Given the description of an element on the screen output the (x, y) to click on. 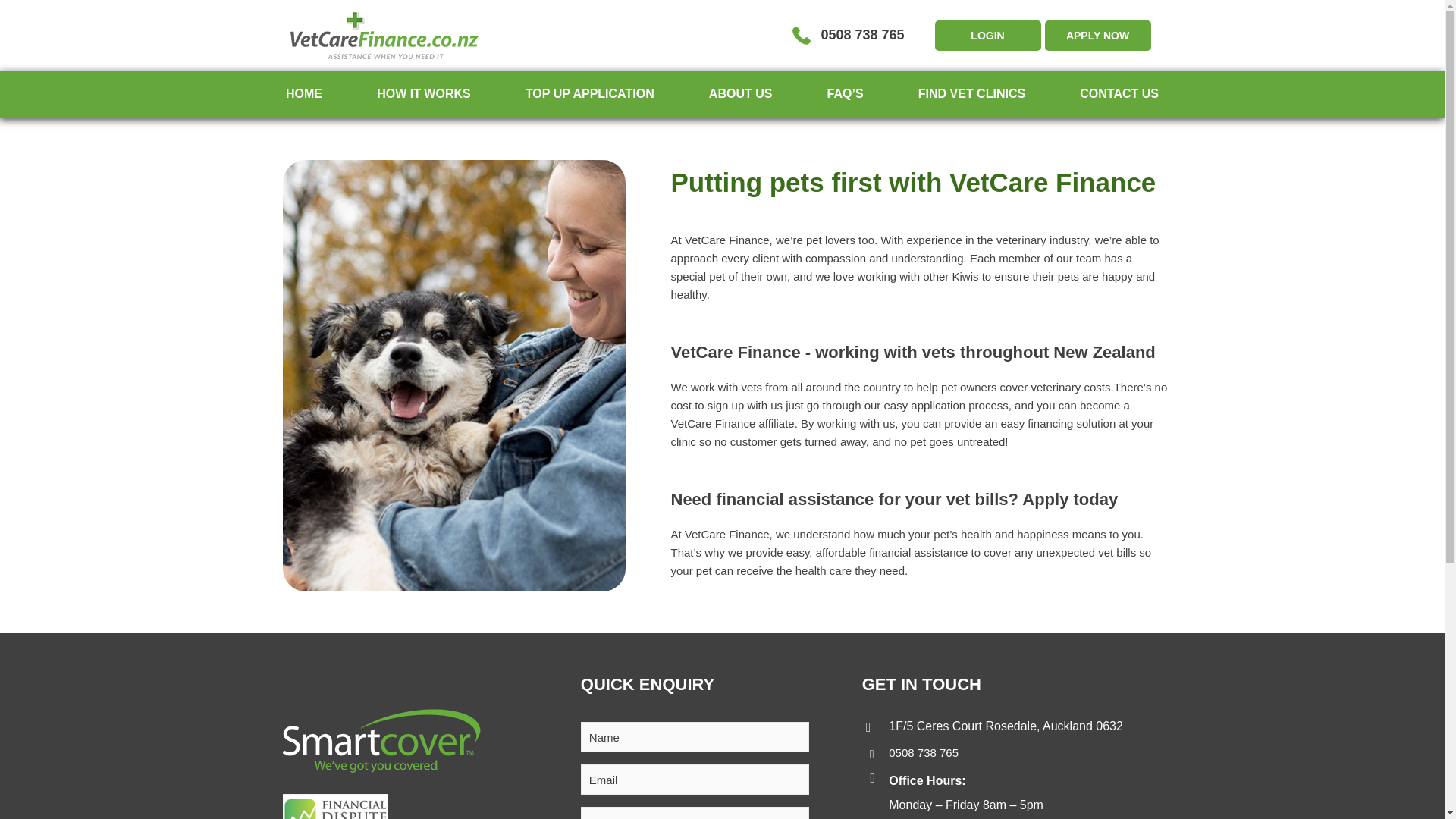
HOW IT WORKS (423, 93)
CONTACT US (1119, 93)
0508 738 765 (923, 752)
FIND VET CLINICS (971, 93)
APPLY NOW (1098, 34)
About Us (741, 93)
How It Works (423, 93)
TOP UP APPLICATION (589, 93)
Home (303, 93)
LOGIN (987, 34)
Top Up Application (589, 93)
ABOUT US (741, 93)
HOME (303, 93)
Contact Us (1119, 93)
Find Vet Clinics (971, 93)
